Given the description of an element on the screen output the (x, y) to click on. 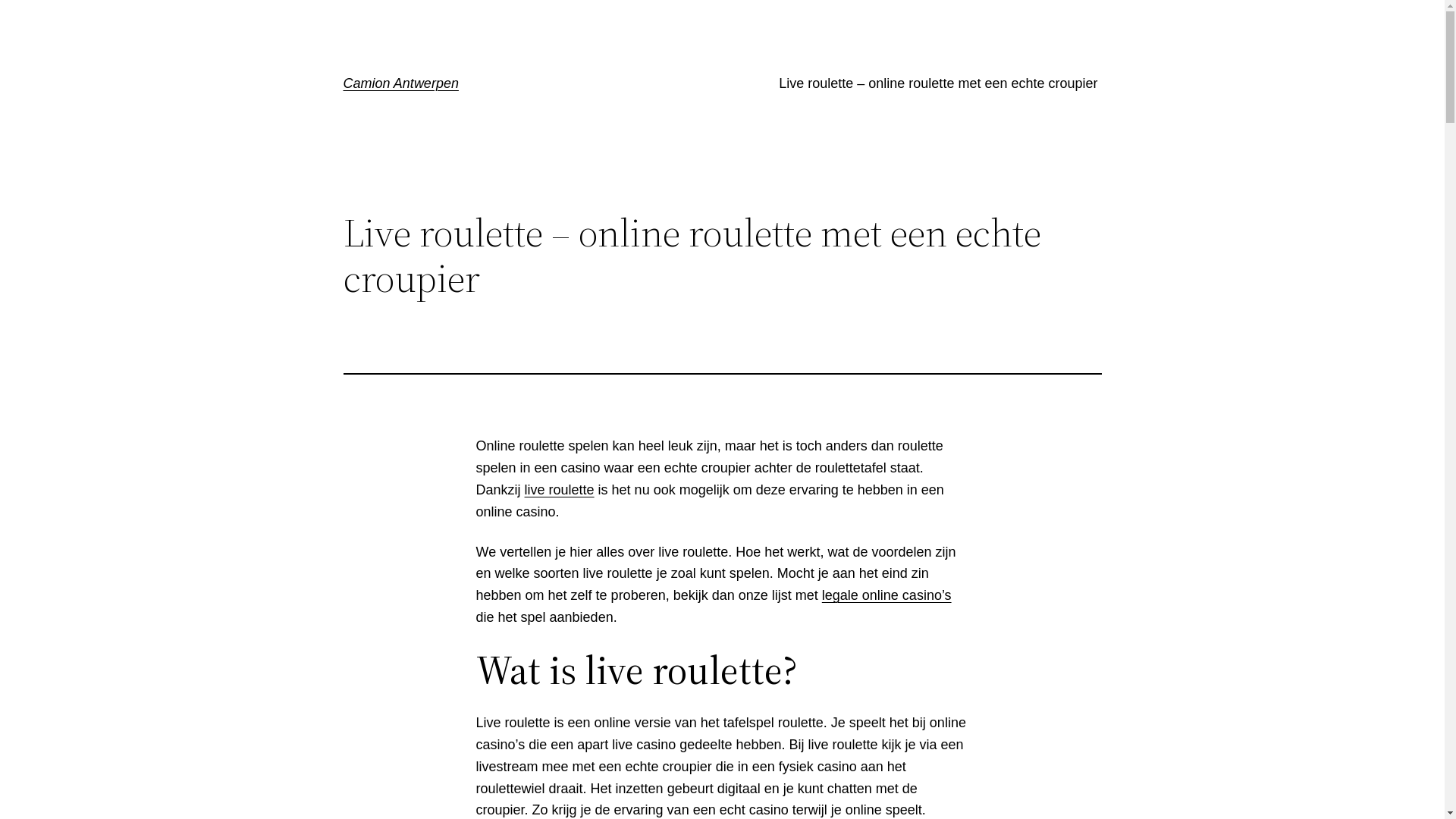
Camion Antwerpen Element type: text (400, 83)
live roulette Element type: text (559, 489)
